Given the description of an element on the screen output the (x, y) to click on. 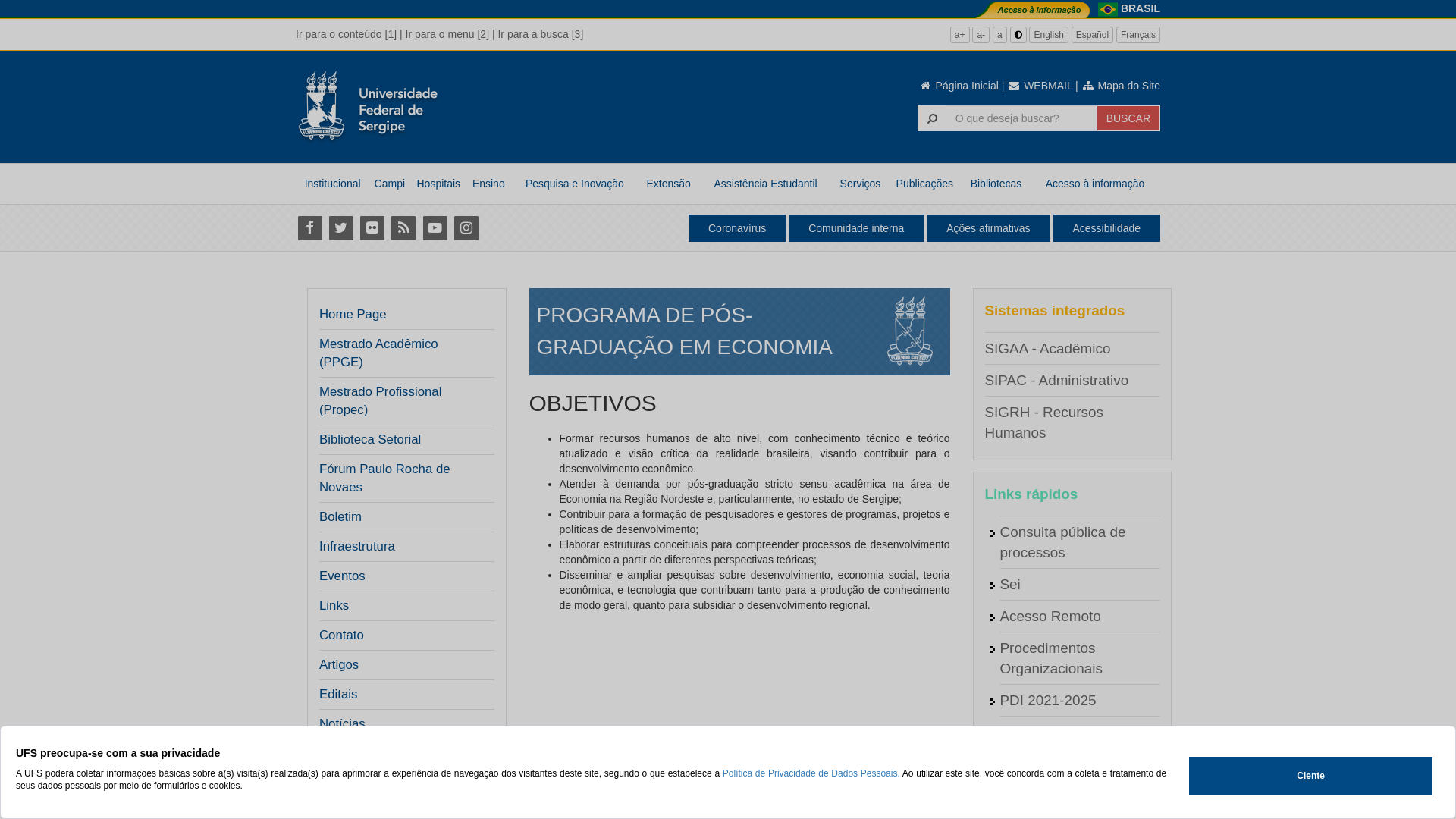
Ensino Element type: text (488, 183)
Links Element type: text (333, 605)
Biblioteca Setorial Element type: text (369, 439)
Flickr Element type: text (371, 227)
Sei Element type: text (1009, 584)
Agenda do Vice-Reitor Element type: text (1071, 763)
PDI 2021-2025 Element type: text (1047, 700)
SIGRH - Recursos Humanos Element type: text (1043, 422)
Hospitais Element type: text (438, 183)
RSS Element type: text (403, 227)
Infraestrutura Element type: text (357, 546)
a- Element type: text (980, 34)
Mestrado Profissional (Propec) Element type: text (402, 400)
Comunidade interna Element type: text (855, 227)
Campi Element type: text (389, 183)
Agenda do Reitor Element type: text (1054, 732)
a Element type: text (999, 34)
Twitter Element type: text (340, 227)
BUSCAR Element type: text (1128, 118)
Bibliotecas Element type: text (995, 183)
Acessibilidade Element type: text (1106, 227)
Telefones Element type: text (1029, 795)
Home Page Element type: text (352, 314)
Instagram Element type: text (465, 227)
English Element type: text (1048, 34)
Ir para o menu [2] Element type: text (447, 34)
Eventos Element type: text (342, 575)
Ir para a busca [3] Element type: text (540, 34)
Boletim Element type: text (340, 516)
Resultados Element type: text (350, 753)
Contato Element type: text (341, 635)
Editais Element type: text (338, 694)
Mapa do Site Element type: text (1120, 85)
Procedimentos Organizacionais Element type: text (1050, 658)
a+ Element type: text (959, 34)
Acesso Remoto Element type: text (1049, 616)
Artigos Element type: text (338, 664)
WEBMAIL Element type: text (1039, 85)
Facebook Element type: text (309, 227)
Youtube Element type: text (434, 227)
SIPAC - Administrativo Element type: text (1056, 380)
BRASIL Element type: text (1140, 8)
Institucional Element type: text (332, 183)
